Given the description of an element on the screen output the (x, y) to click on. 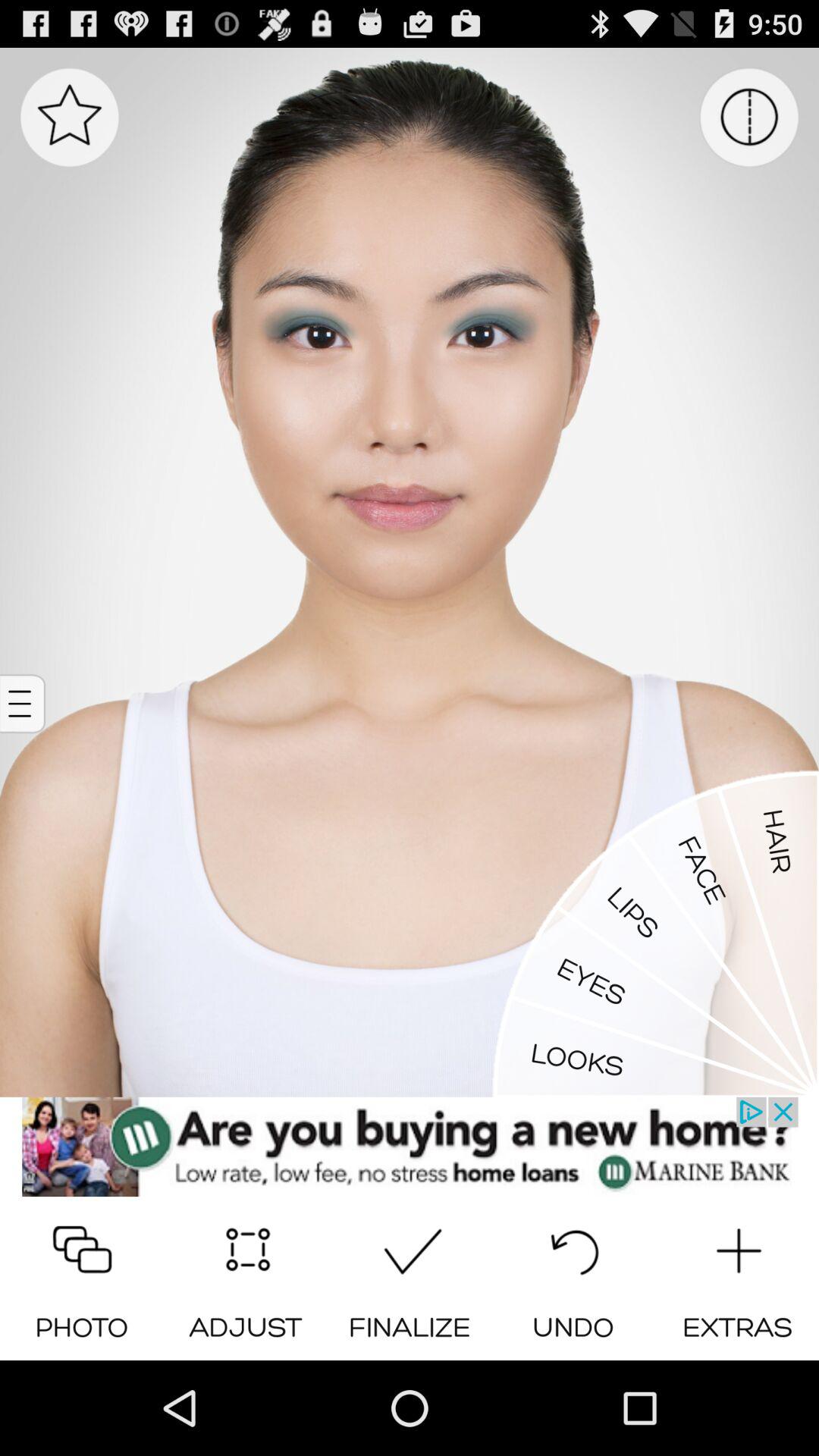
click on symbol above extras (737, 1245)
select the symbol above finalize (409, 1245)
select the icon which is in the top right corner of the page (749, 116)
